Given the description of an element on the screen output the (x, y) to click on. 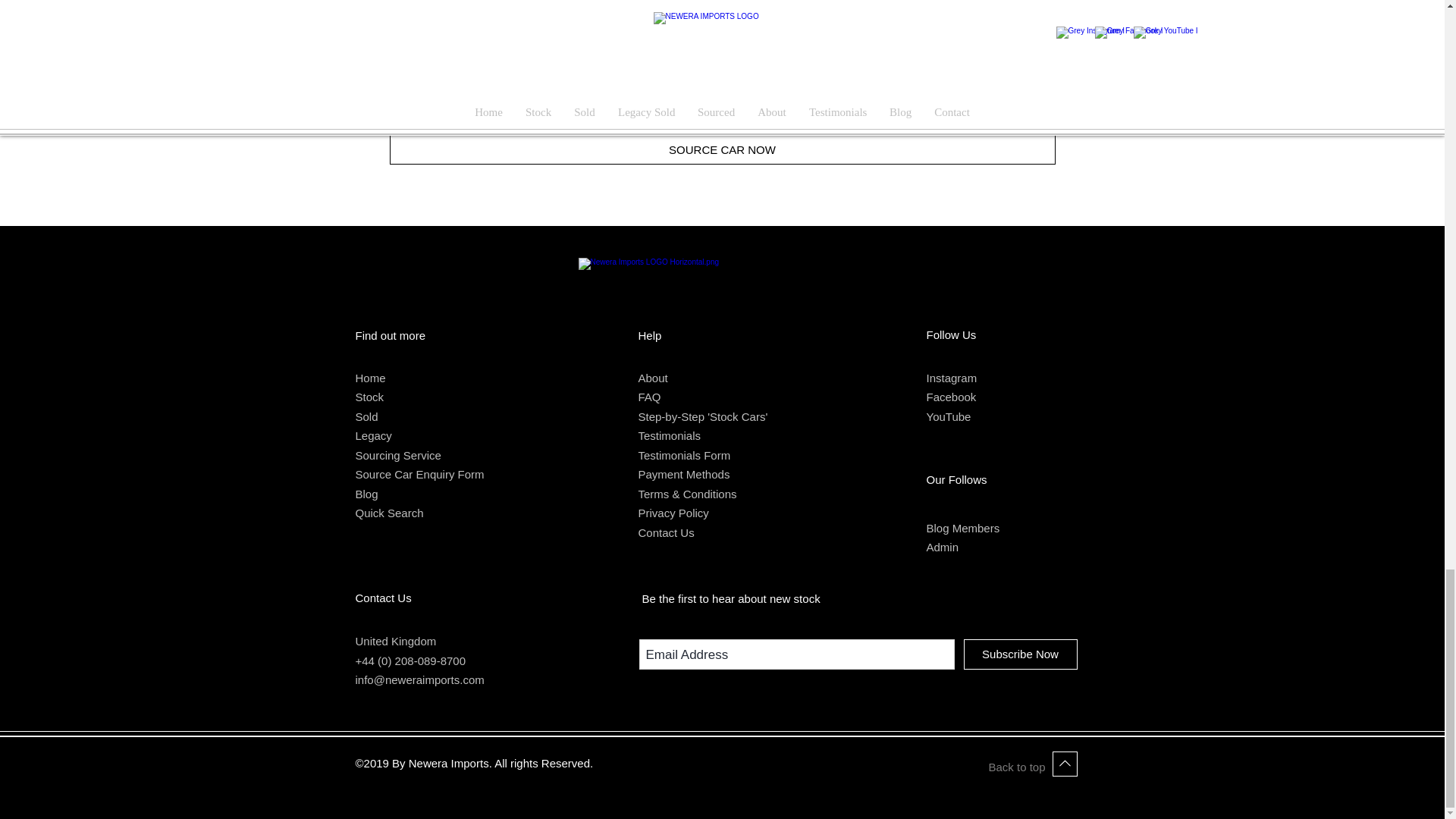
Quick Search (389, 512)
Testimonials (670, 435)
Sold (366, 416)
Legacy (373, 435)
FAQ (650, 396)
About (653, 377)
Home (370, 377)
Blog (366, 493)
Testimonials Form (684, 454)
Sourcing Service (398, 454)
